Given the description of an element on the screen output the (x, y) to click on. 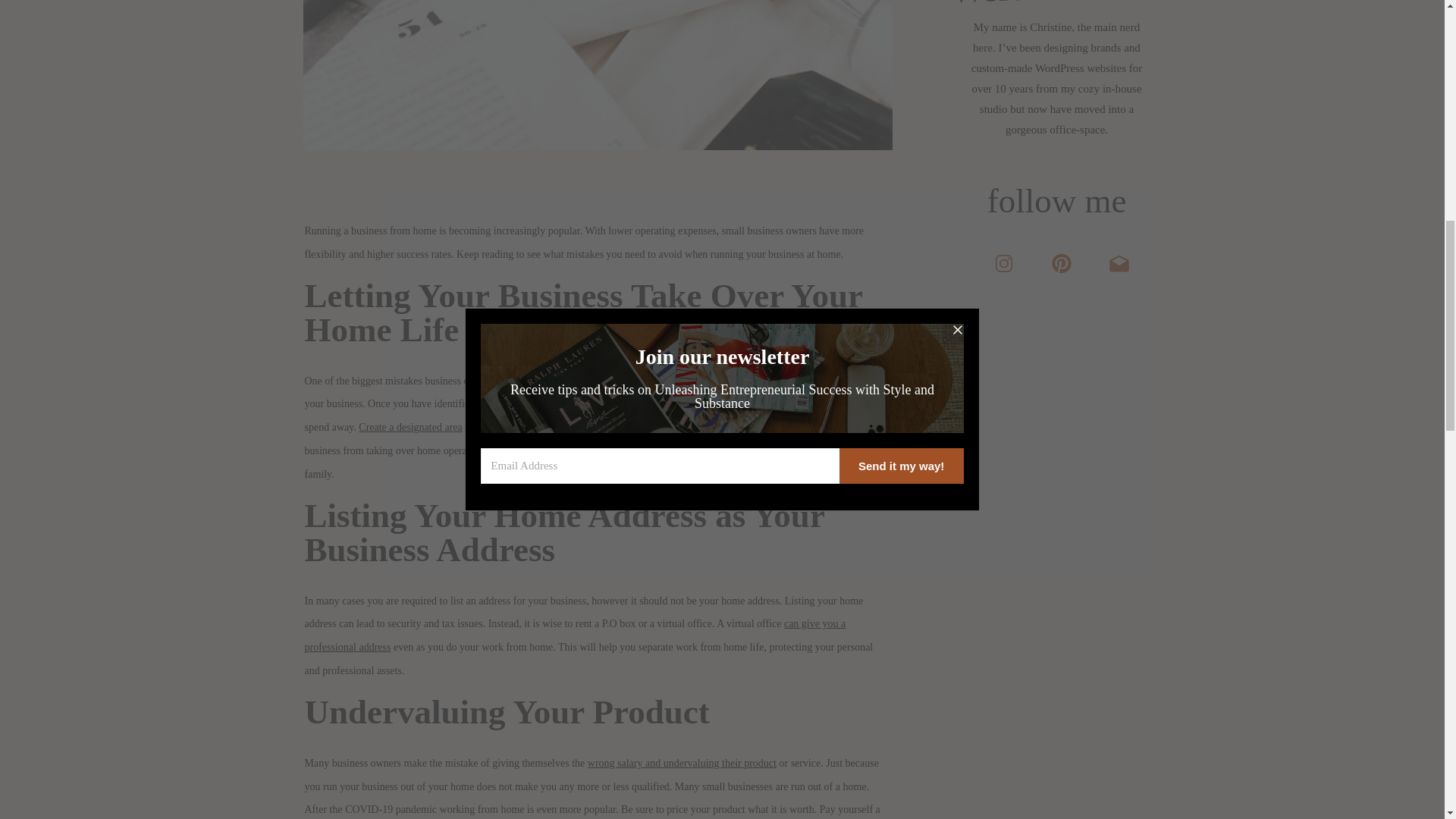
can give you a professional address (574, 635)
wrong salary and undervaluing their product (682, 763)
Create a designated area (409, 427)
